Given the description of an element on the screen output the (x, y) to click on. 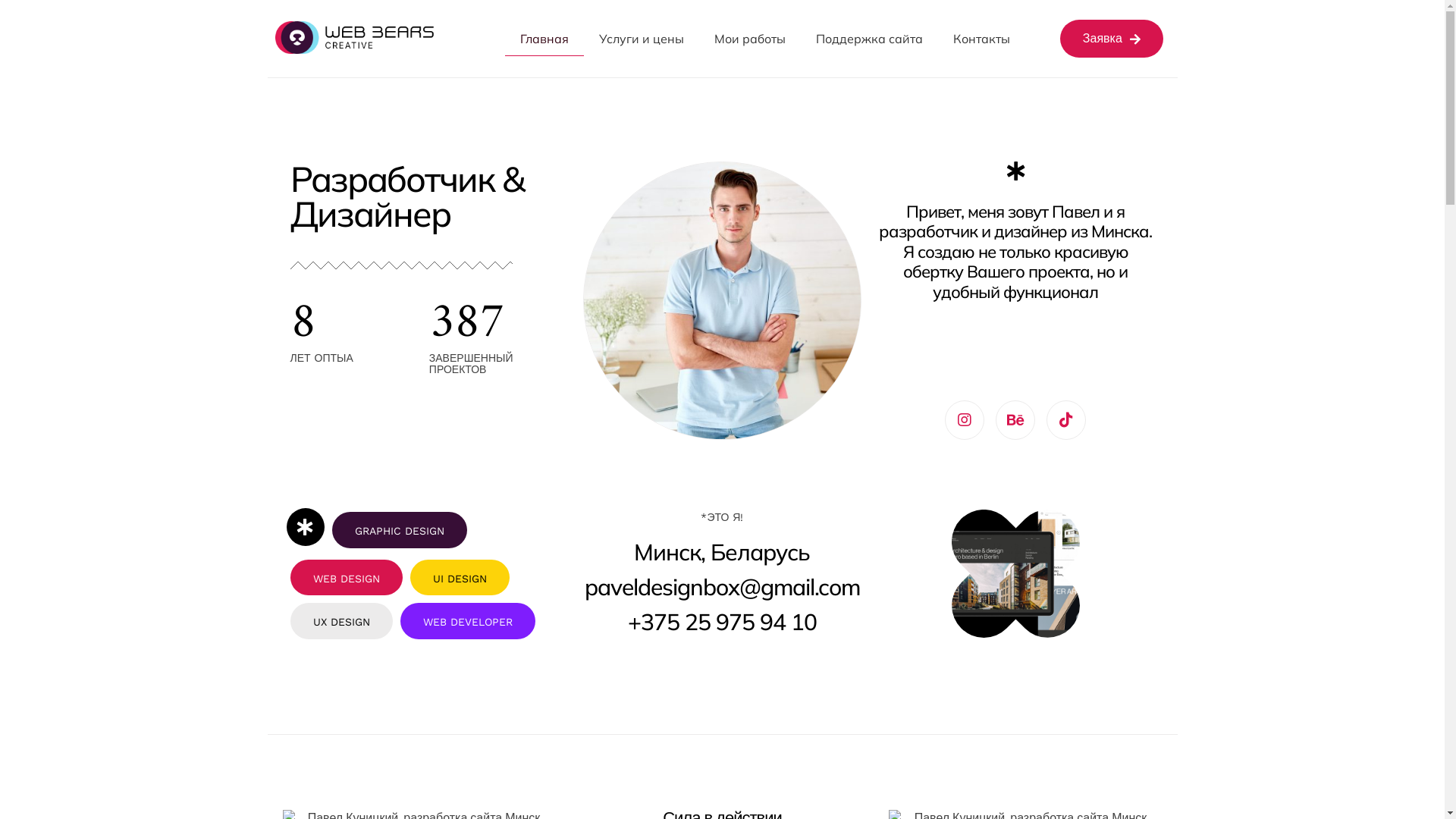
+375 25 975 94 10 Element type: text (722, 621)
Designer by workplace Element type: hover (721, 300)
GRAPHIC DESIGN Element type: text (399, 529)
UI DESIGN Element type: text (458, 577)
UX DESIGN Element type: text (340, 620)
WEB DEVELOPER Element type: text (467, 620)
WEB DESIGN Element type: text (345, 577)
paveldesignbox@gmail.com Element type: text (722, 586)
